Given the description of an element on the screen output the (x, y) to click on. 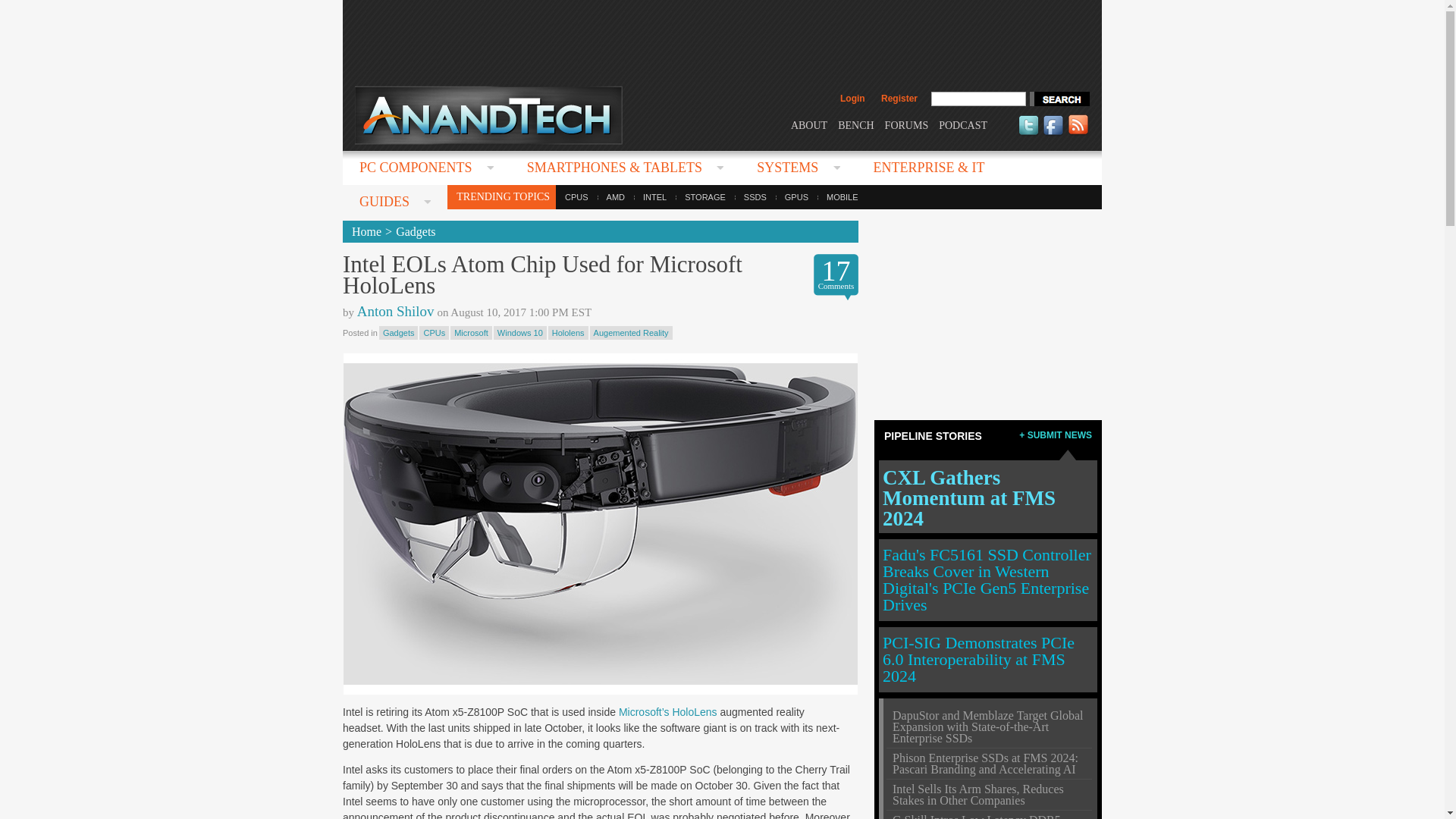
FORUMS (906, 125)
search (1059, 98)
search (1059, 98)
ABOUT (808, 125)
Login (852, 98)
PODCAST (963, 125)
search (1059, 98)
BENCH (855, 125)
Register (898, 98)
